Given the description of an element on the screen output the (x, y) to click on. 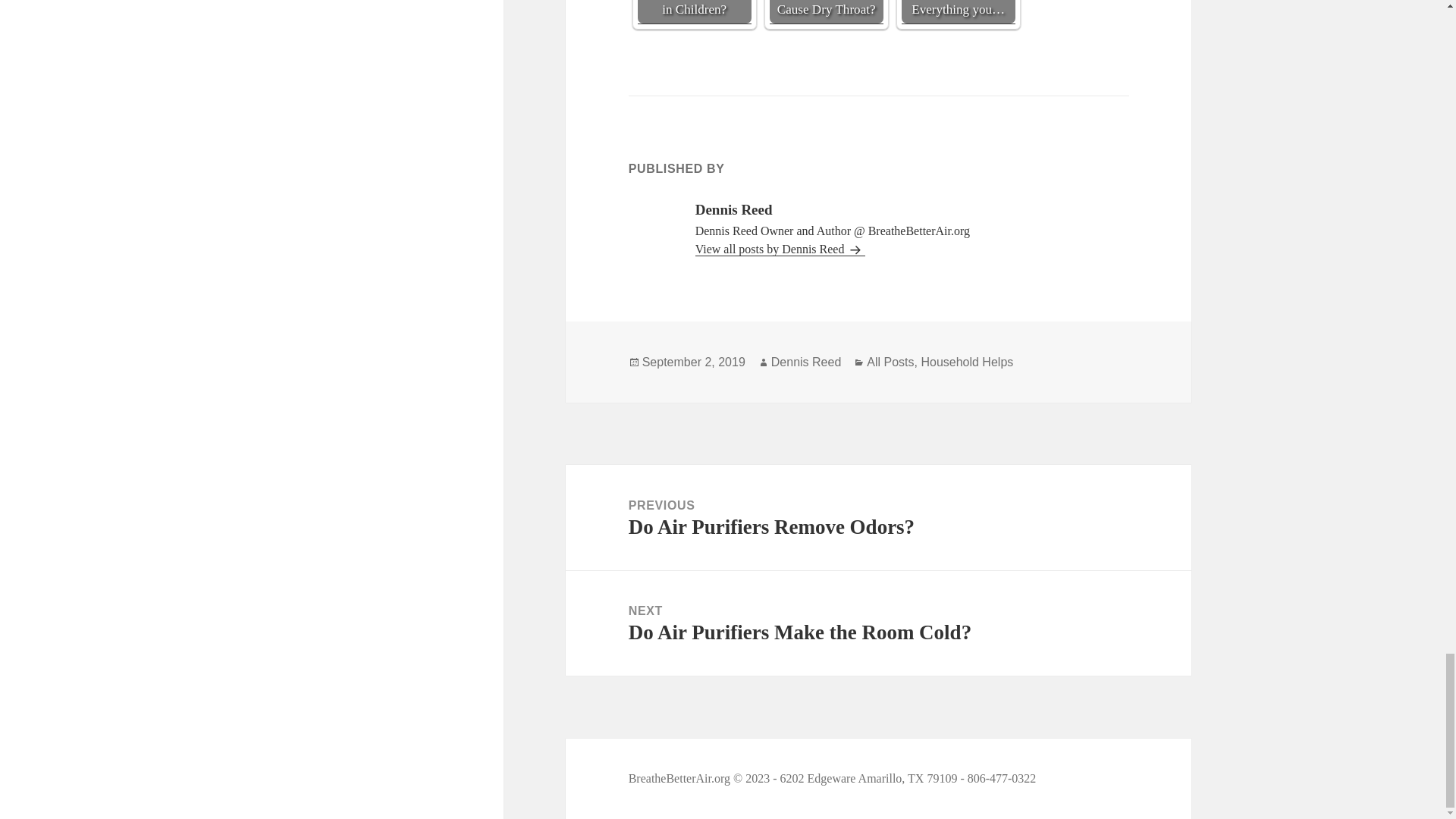
Dennis Reed (878, 623)
All Posts (878, 517)
View all posts by Dennis Reed (806, 361)
Can An Air Purifier Cause Dry Throat? (890, 361)
September 2, 2019 (780, 249)
Household Helps (826, 12)
Can a Humidifier Help With Asthma in Children? (693, 361)
